Given the description of an element on the screen output the (x, y) to click on. 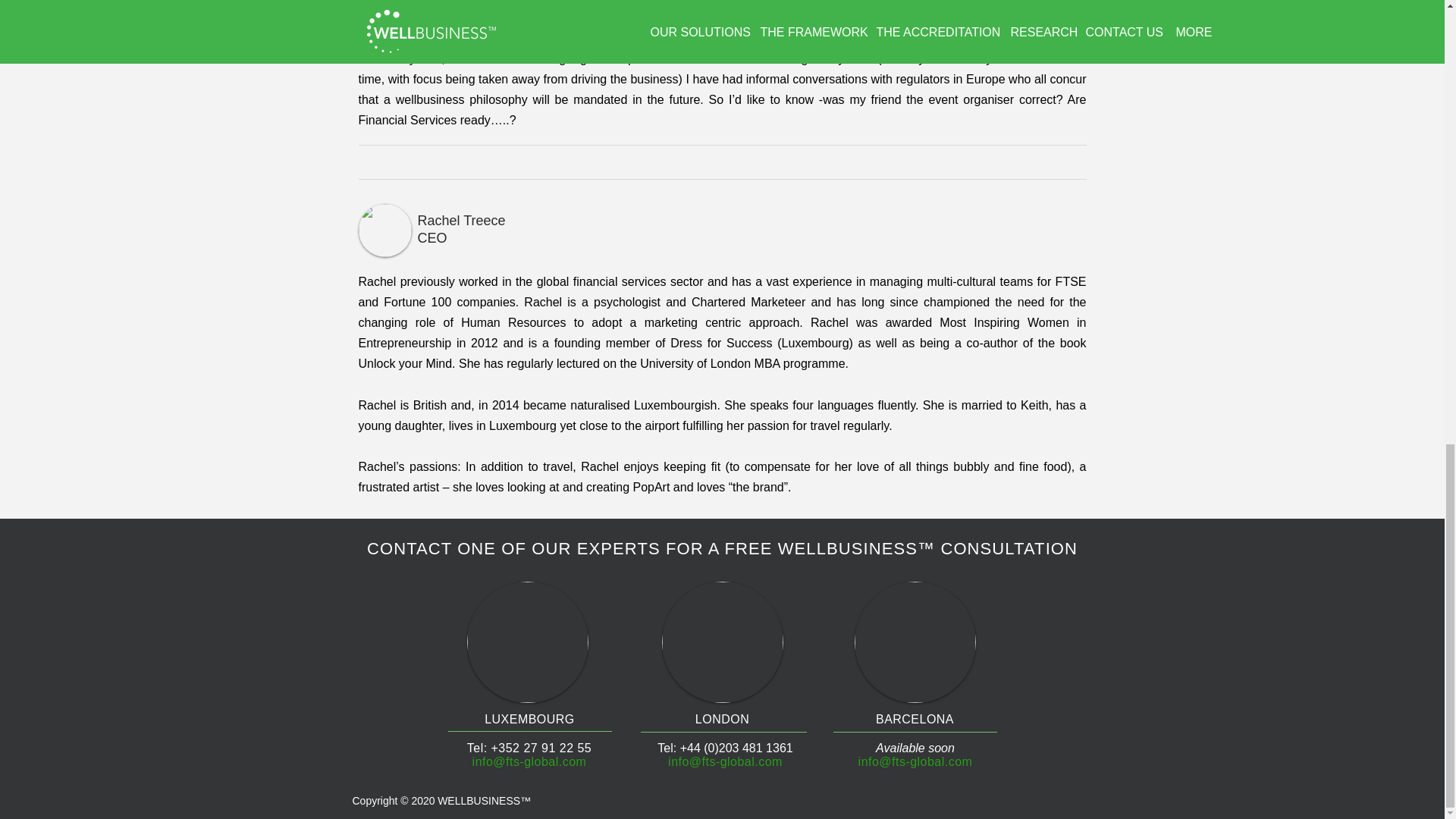
Pin to Pinterest (435, 161)
Twitter Tweet (381, 161)
